Given the description of an element on the screen output the (x, y) to click on. 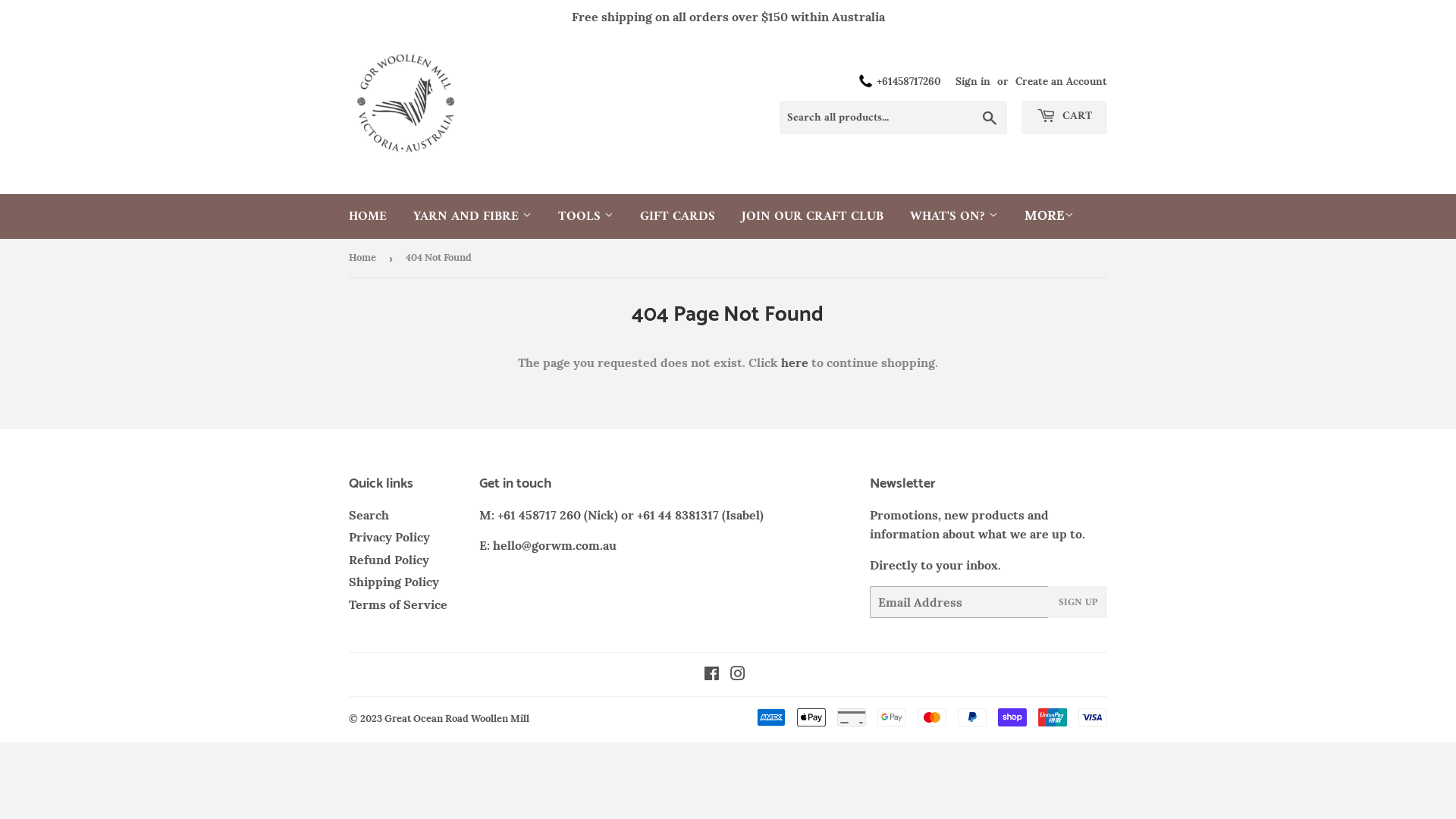
Sign in Element type: text (972, 80)
Privacy Policy Element type: text (388, 536)
MORE Element type: text (1049, 215)
Create an Account Element type: text (1061, 80)
here Element type: text (794, 362)
GIFT CARDS Element type: text (677, 216)
Facebook Element type: text (711, 674)
Instagram Element type: text (736, 674)
WHAT'S ON? Element type: text (953, 216)
Refund Policy Element type: text (388, 559)
TOOLS Element type: text (585, 216)
HOME Element type: text (367, 216)
Terms of Service Element type: text (397, 603)
Search Element type: text (989, 118)
CART Element type: text (1064, 117)
JOIN OUR CRAFT CLUB Element type: text (812, 216)
Search Element type: text (368, 514)
Home Element type: text (364, 257)
Shipping Policy Element type: text (393, 581)
Great Ocean Road Woollen Mill Element type: text (456, 718)
+61458717260 Element type: text (899, 81)
SIGN UP Element type: text (1077, 602)
YARN AND FIBRE Element type: text (471, 216)
